Given the description of an element on the screen output the (x, y) to click on. 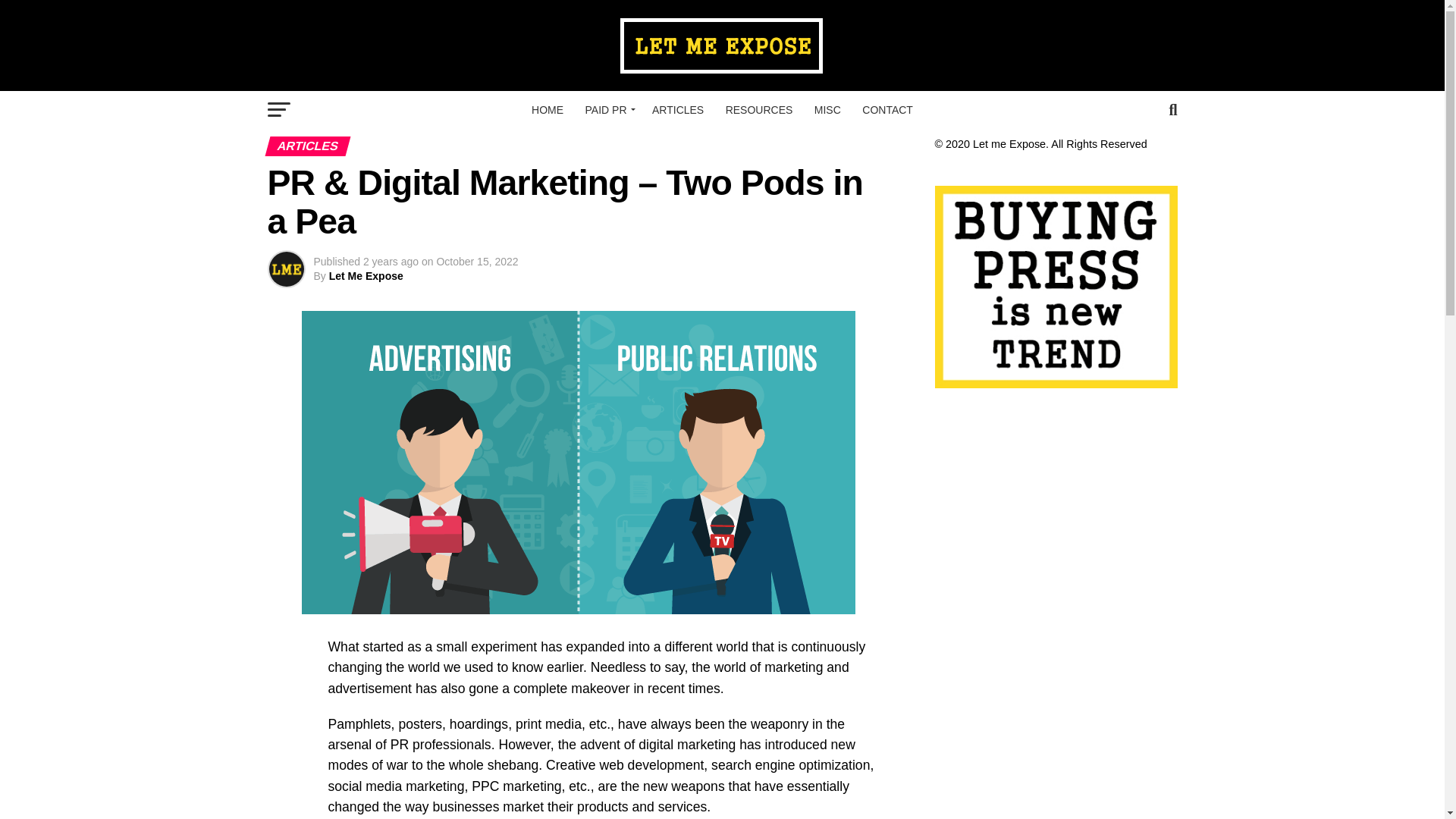
PAID PR (608, 109)
CONTACT (887, 109)
Let Me Expose (366, 275)
ARTICLES (678, 109)
RESOURCES (759, 109)
MISC (827, 109)
Posts by Let Me Expose (366, 275)
HOME (547, 109)
